Given the description of an element on the screen output the (x, y) to click on. 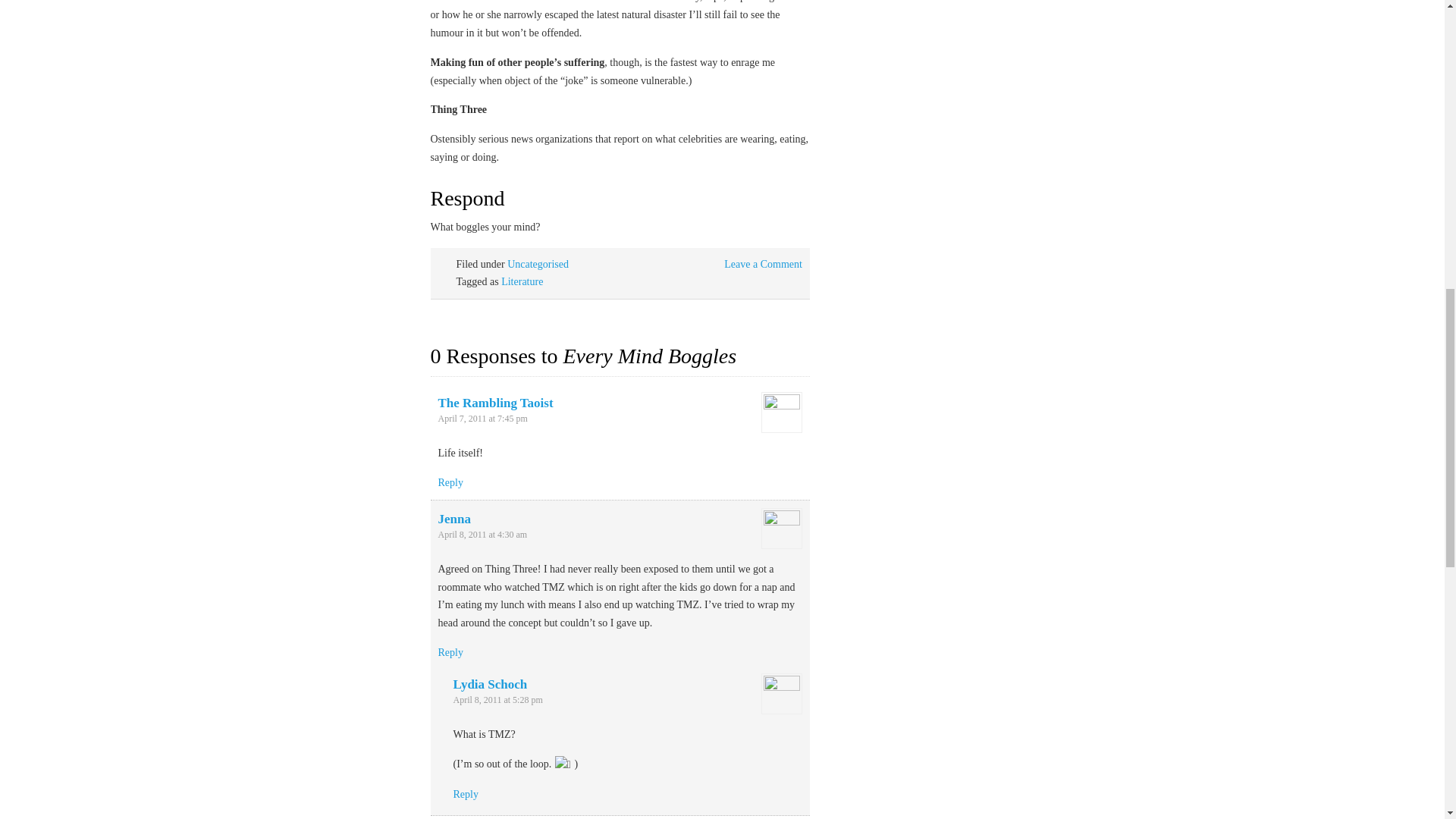
Lydia Schoch (489, 684)
Uncategorised (537, 264)
Reply (450, 482)
The Rambling Taoist (495, 402)
April 8, 2011 at 4:30 am (482, 534)
April 8, 2011 at 5:28 pm (497, 699)
Reply (450, 652)
April 7, 2011 at 7:45 pm (482, 418)
Jenna (454, 518)
Reply (465, 794)
Literature (521, 281)
Leave a Comment (762, 264)
